Given the description of an element on the screen output the (x, y) to click on. 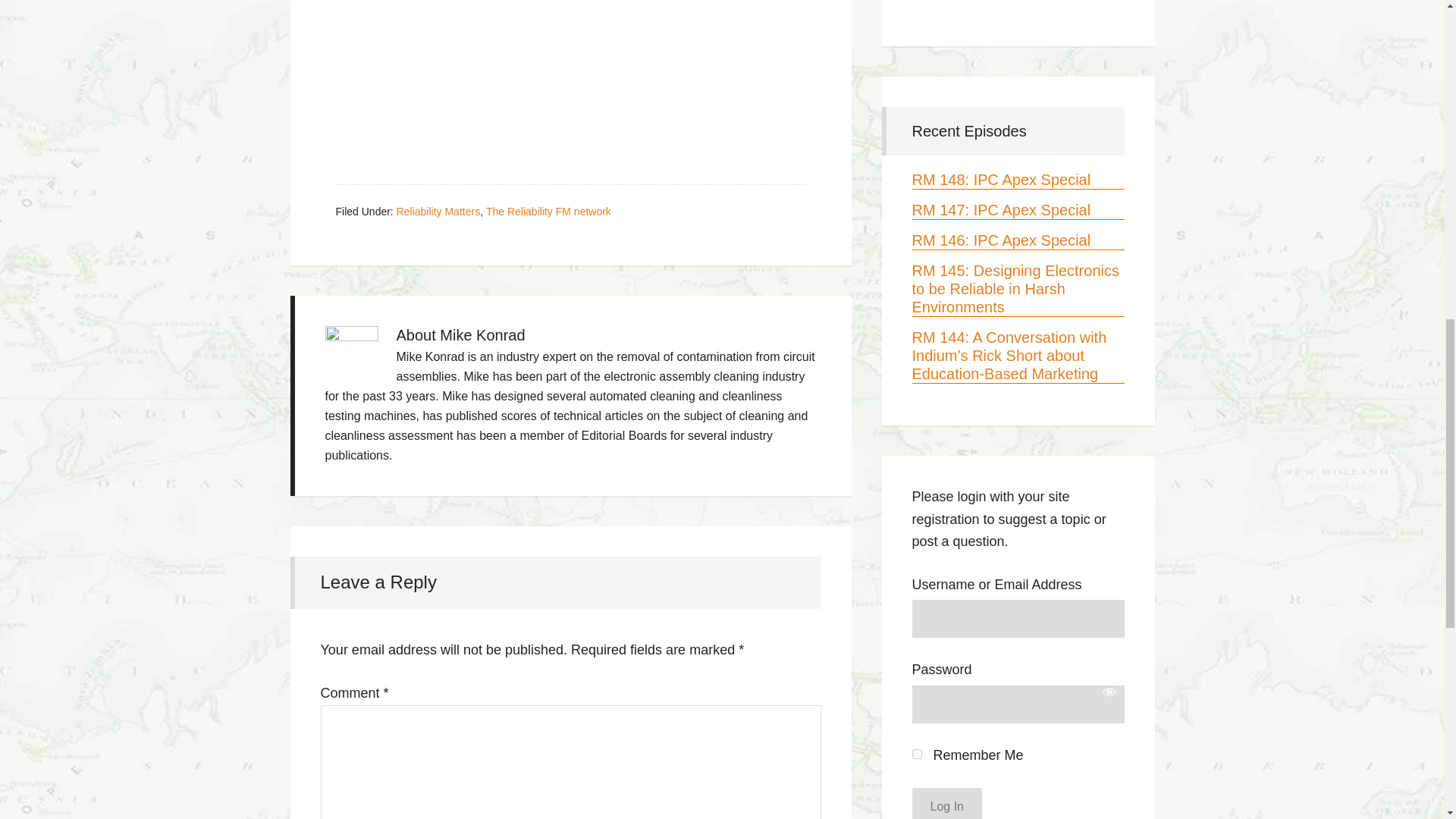
RM 148: IPC Apex Special (1000, 179)
forever (916, 754)
Log In (946, 803)
